Given the description of an element on the screen output the (x, y) to click on. 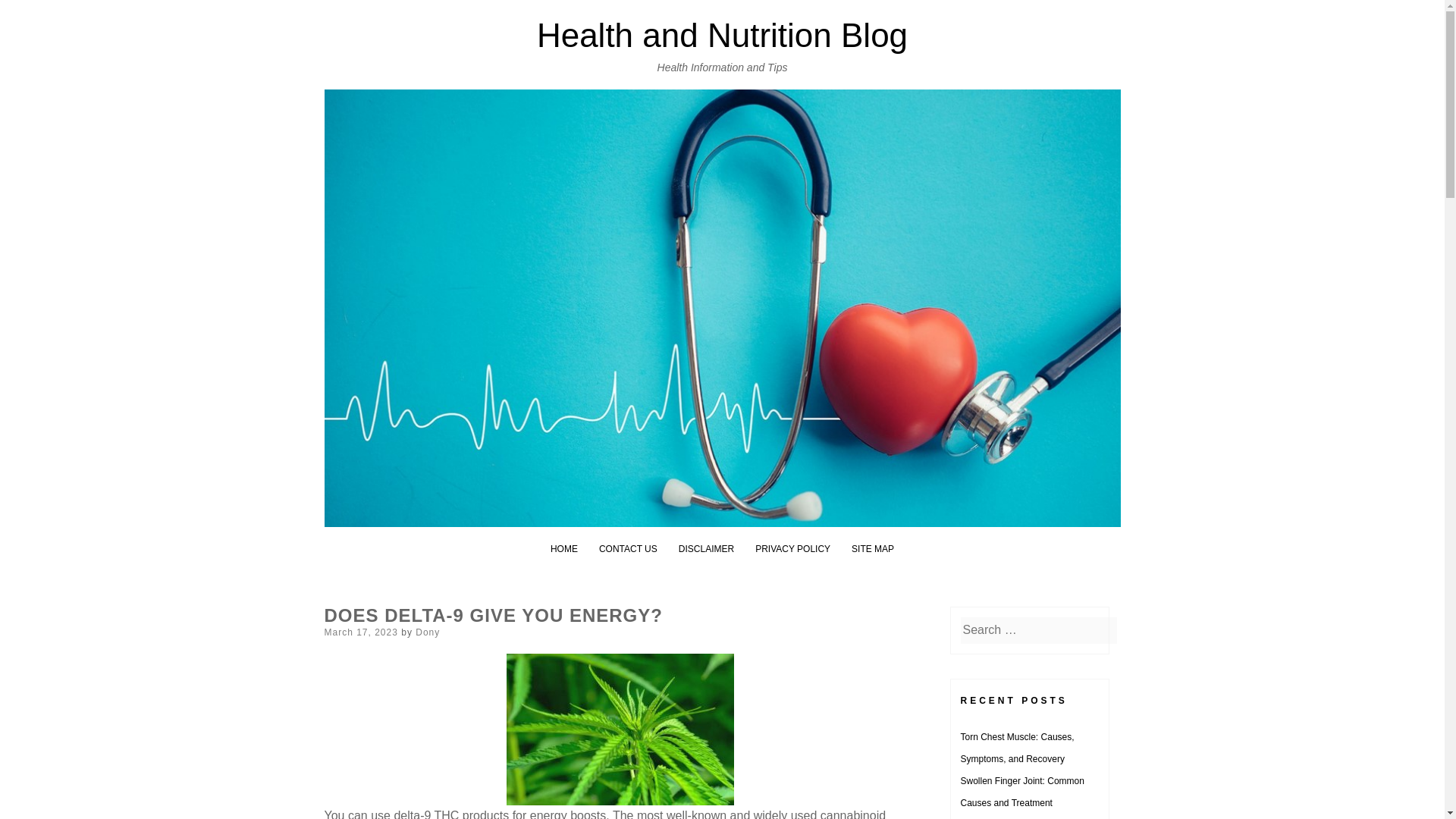
CONTACT US (628, 548)
SITE MAP (872, 548)
PRIVACY POLICY (792, 548)
Health and Nutrition Blog (722, 35)
March 17, 2023 (360, 632)
HOME (564, 548)
DISCLAIMER (705, 548)
Search (29, 13)
Torn Chest Muscle: Causes, Symptoms, and Recovery (1016, 748)
